Given the description of an element on the screen output the (x, y) to click on. 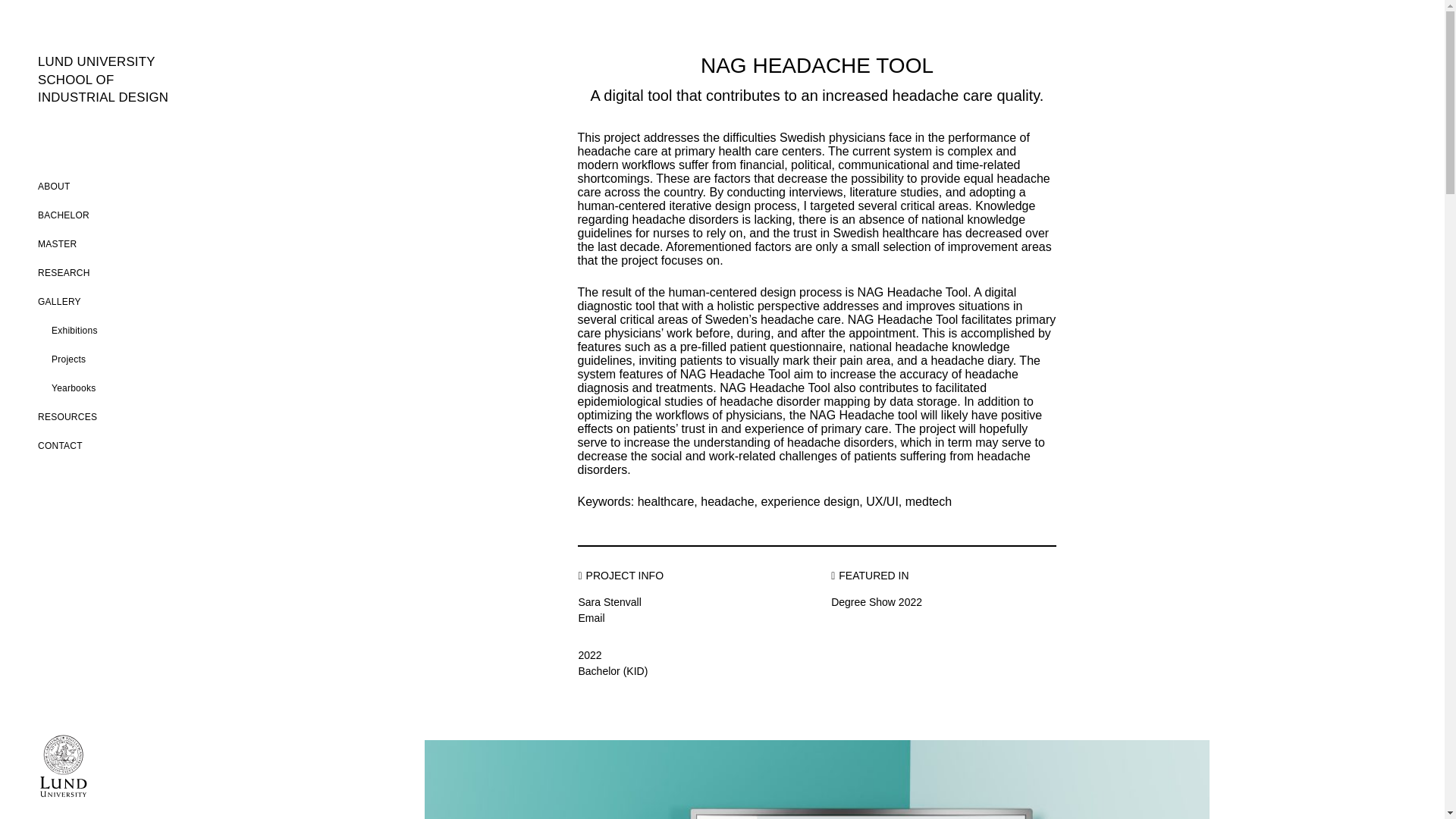
Projects (67, 358)
Exhibitions (73, 330)
RESOURCES (67, 416)
Degree Show 2022 (876, 602)
ABOUT (113, 80)
CONTACT (53, 185)
RESEARCH (59, 445)
GALLERY (63, 272)
BACHELOR (59, 301)
MASTER (62, 214)
Yearbooks (57, 244)
Email (73, 388)
